Given the description of an element on the screen output the (x, y) to click on. 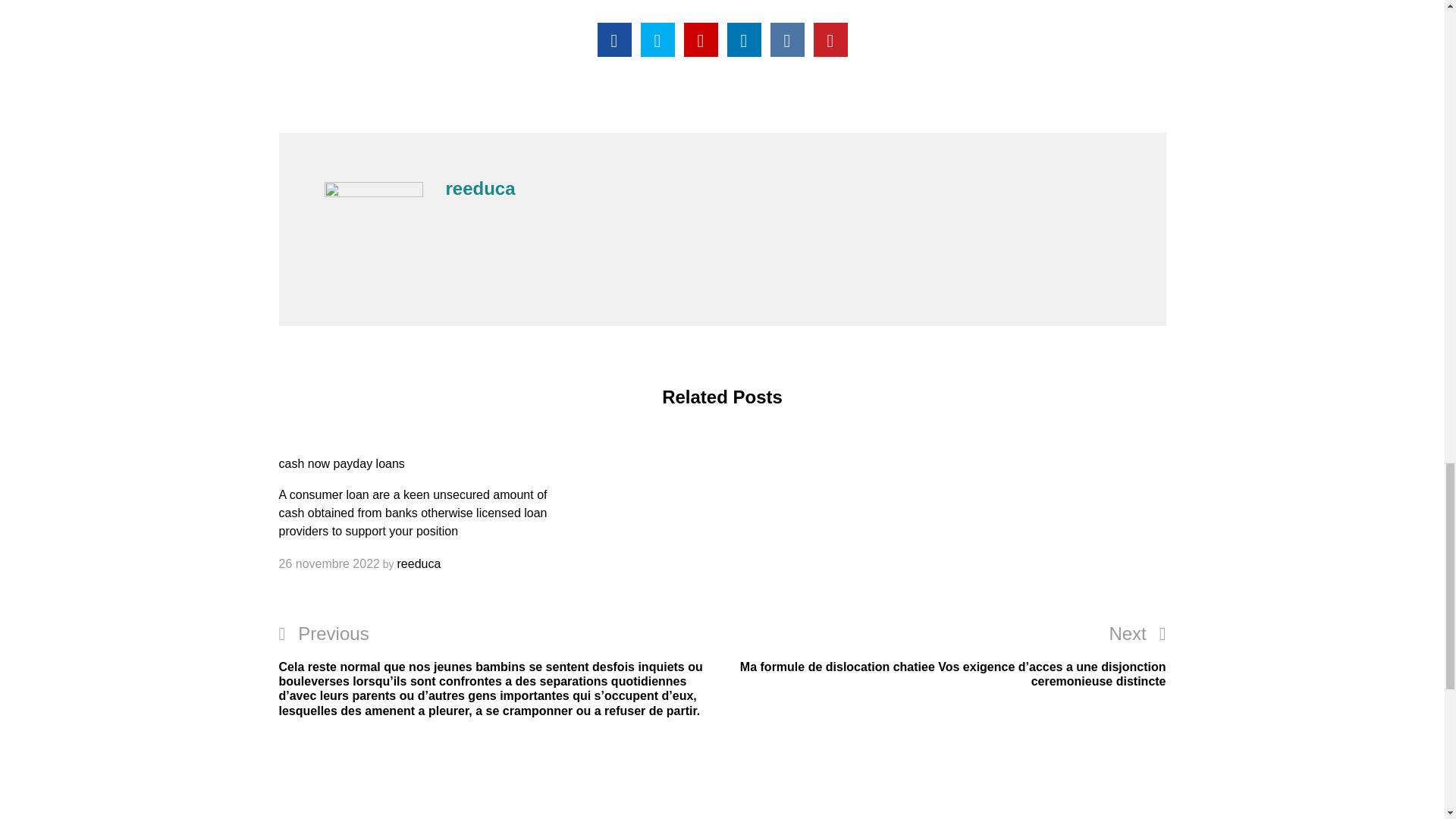
Choosing property upgrade loan financial (613, 39)
cash now payday loans (341, 462)
Choosing property upgrade loan financial (700, 39)
